Given the description of an element on the screen output the (x, y) to click on. 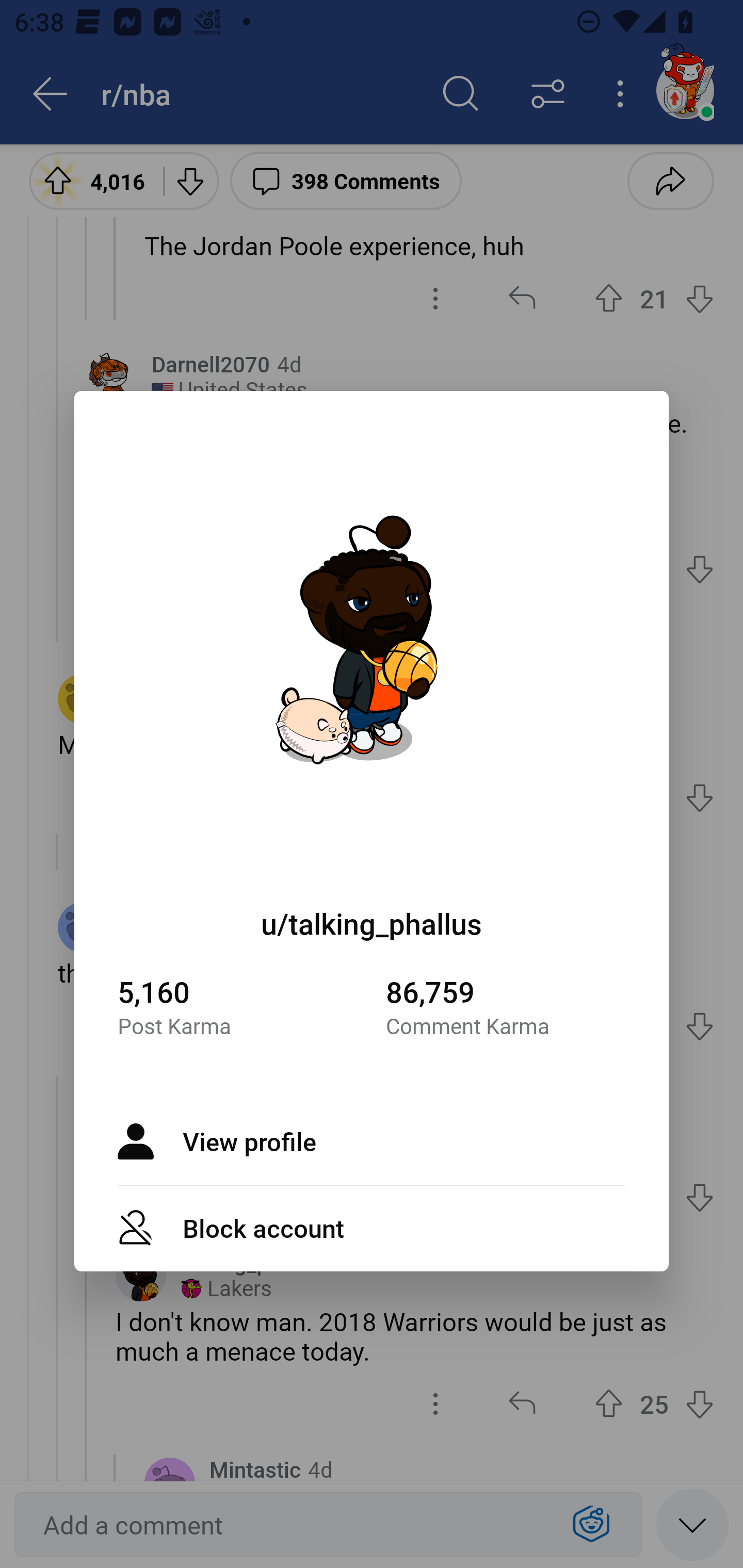
u/talking_phallus (371, 922)
View profile (371, 1141)
Block account (371, 1228)
